Given the description of an element on the screen output the (x, y) to click on. 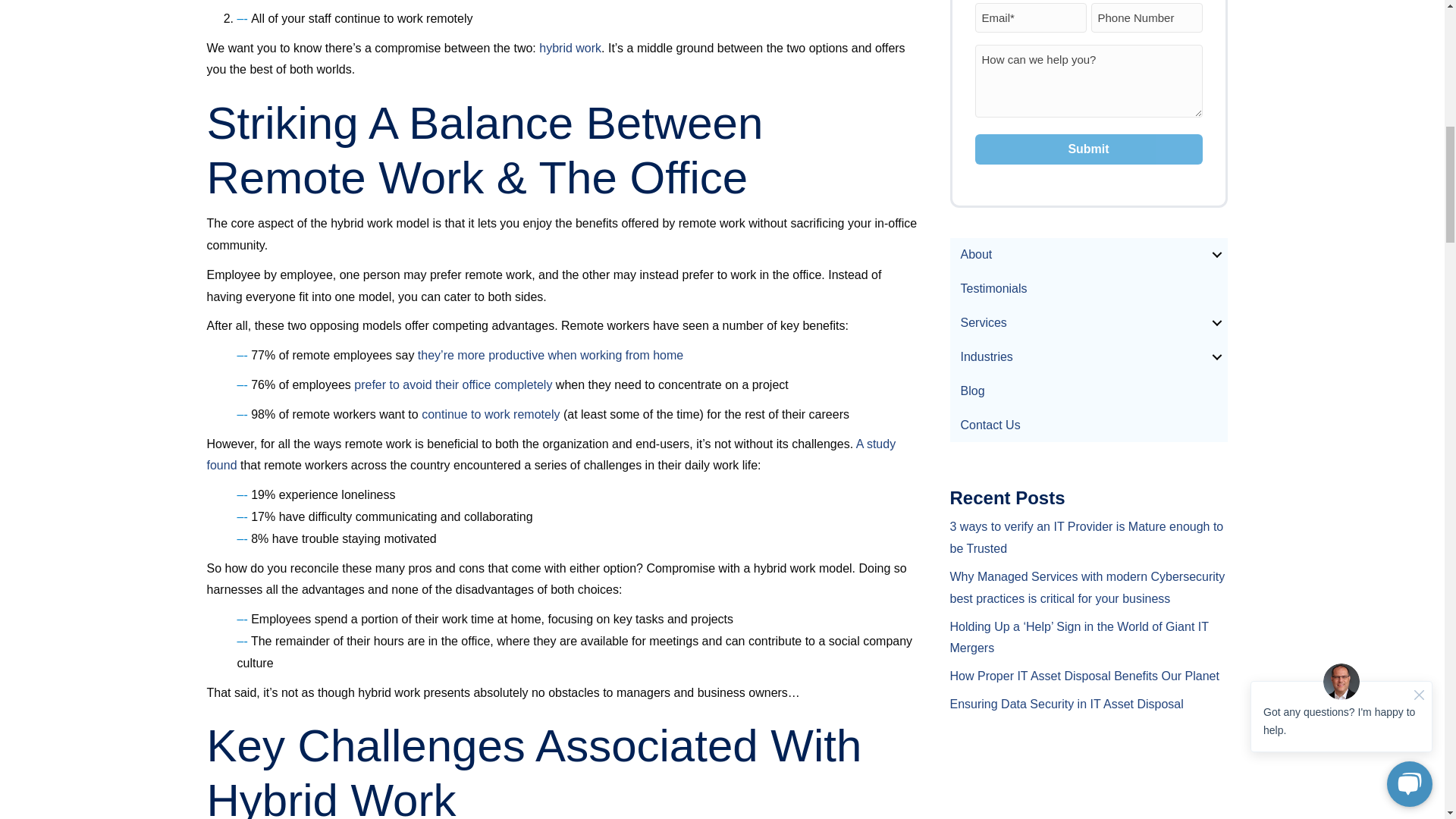
Submit (1088, 148)
